Given the description of an element on the screen output the (x, y) to click on. 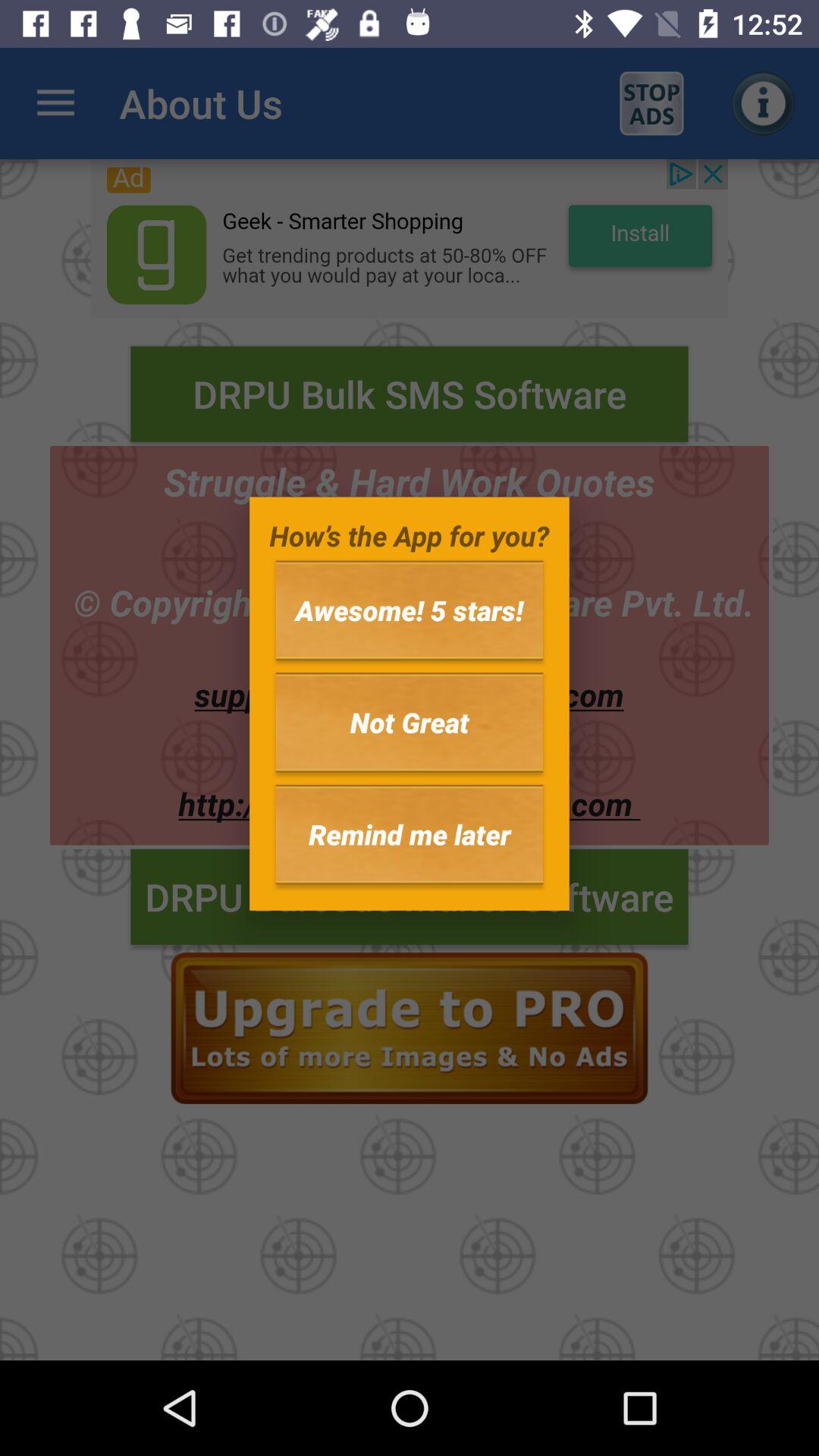
turn off icon below the how s the icon (409, 610)
